Given the description of an element on the screen output the (x, y) to click on. 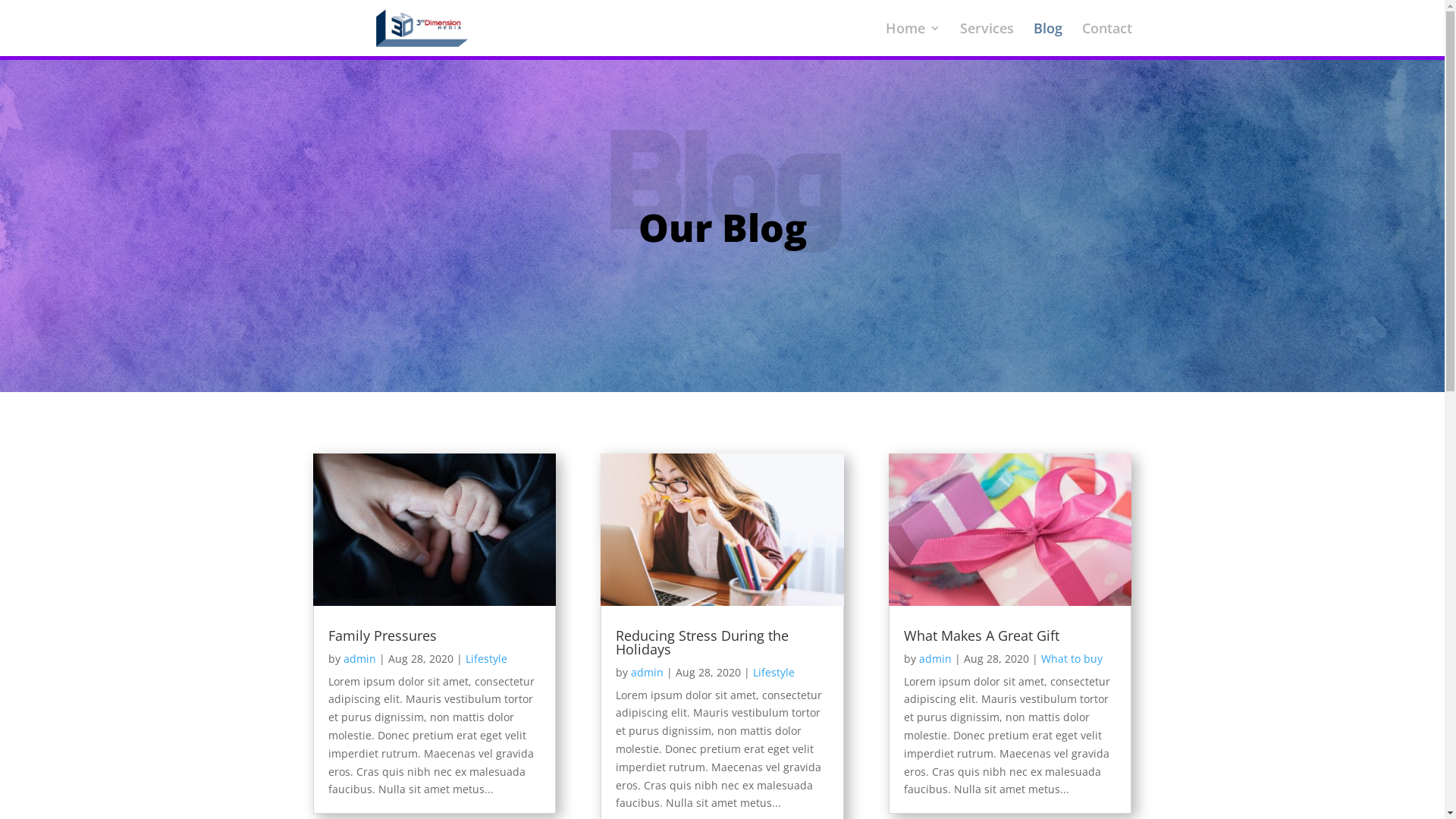
Services Element type: text (986, 39)
admin Element type: text (358, 658)
Reducing Stress During the Holidays Element type: text (701, 642)
Lifestyle Element type: text (486, 658)
Home Element type: text (912, 39)
What Makes A Great Gift Element type: text (981, 635)
Contact Element type: text (1106, 39)
What to buy Element type: text (1071, 658)
admin Element type: text (935, 658)
admin Element type: text (646, 672)
Lifestyle Element type: text (773, 672)
Blog Element type: text (1046, 39)
Family Pressures Element type: text (381, 635)
